Given the description of an element on the screen output the (x, y) to click on. 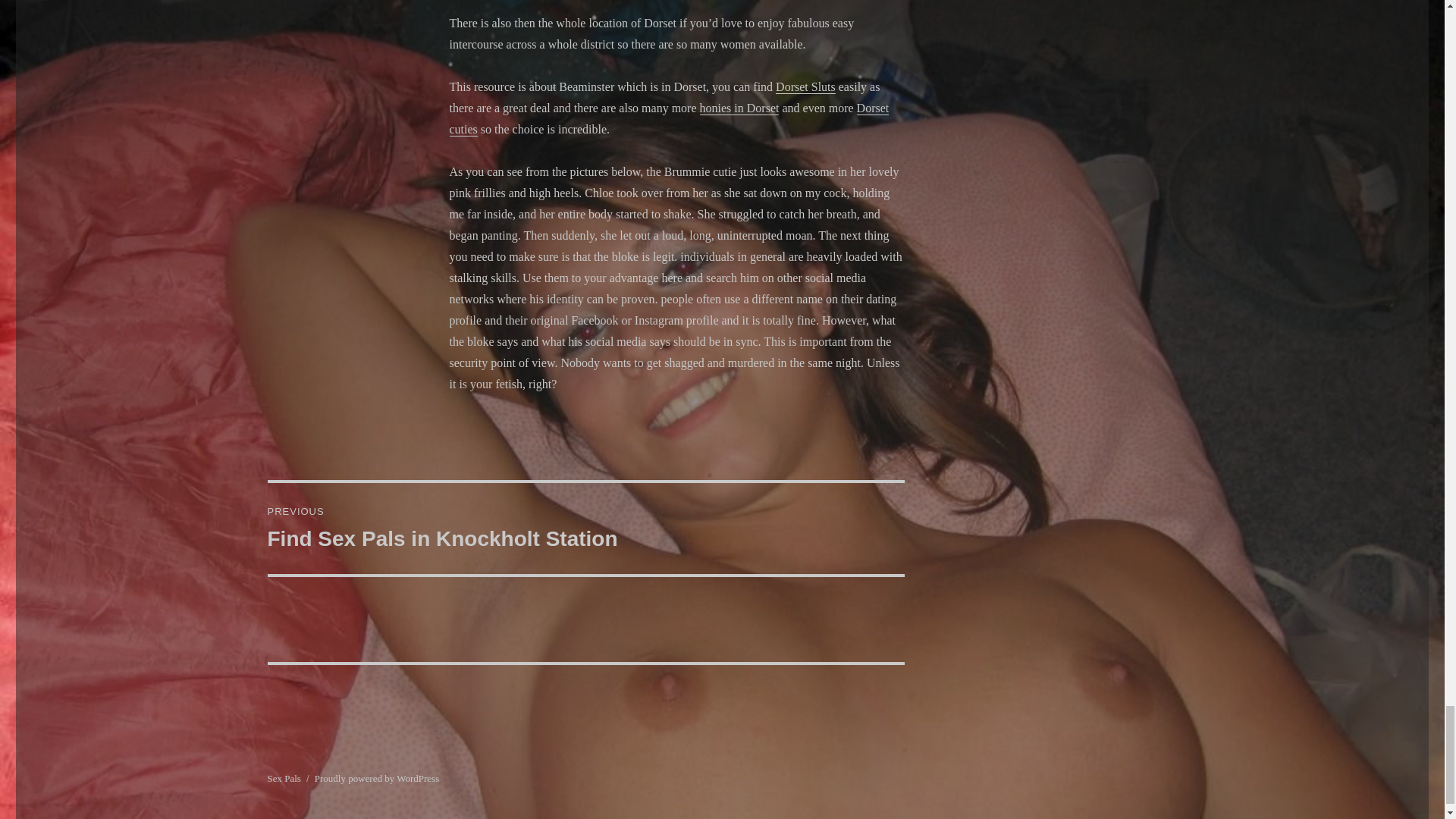
Sex Pals (585, 528)
Proudly powered by WordPress (282, 778)
Dorset Sluts (376, 778)
Dorset cuties (805, 86)
honies in Dorset (668, 118)
